Given the description of an element on the screen output the (x, y) to click on. 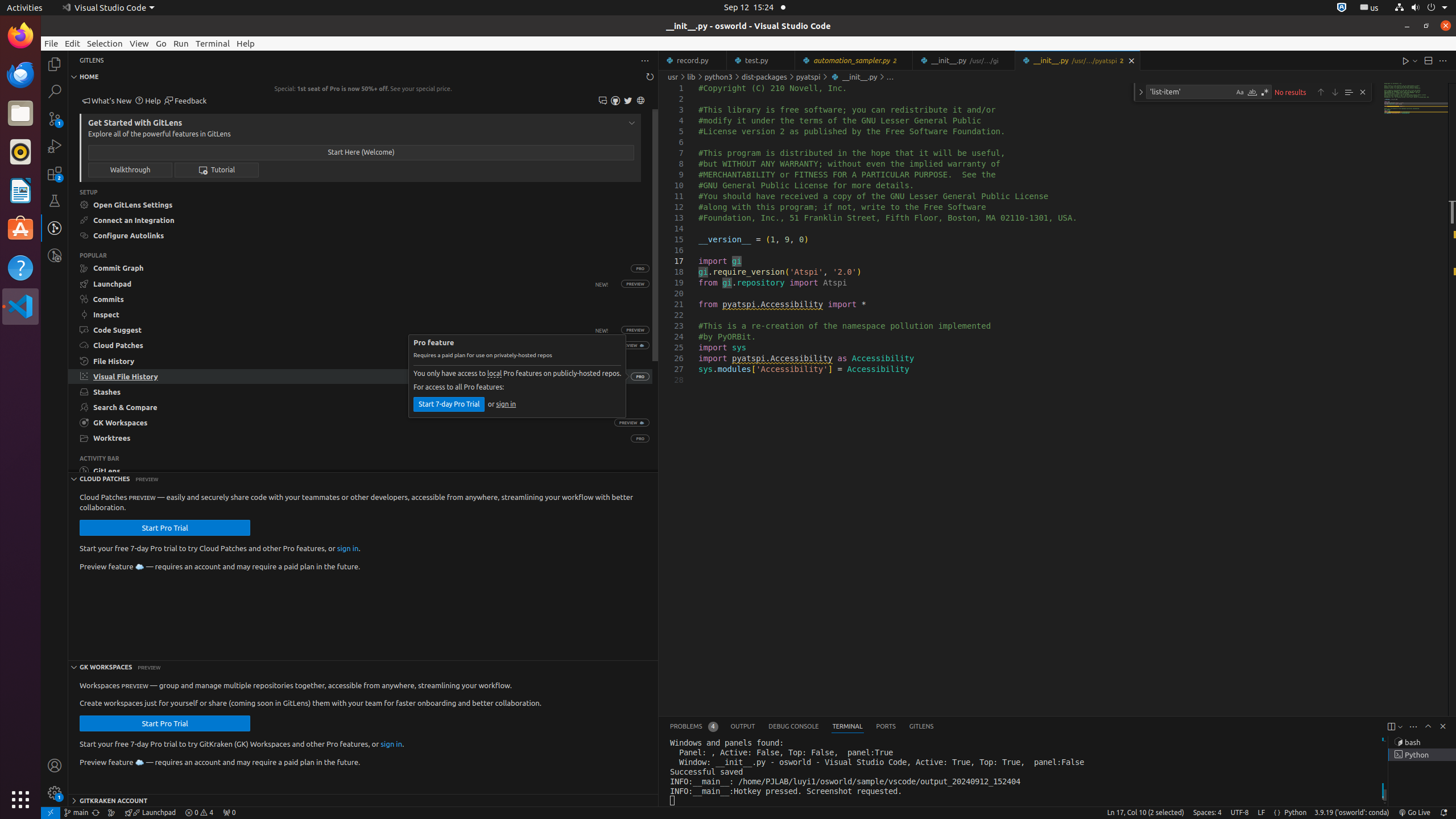
Find in Selection (Alt+L) Element type: check-box (1348, 91)
Run Element type: push-button (181, 43)
Show GitKraken Workspaces view Element type: link (340, 422)
rocket gitlens-unplug Launchpad, GitLens Launchpad ᴘʀᴇᴠɪᴇᴡ    &mdash;    [$(question)](command:gitlens.launchpad.indicator.action?%22info%22 "What is this?") [$(gear)](command:workbench.action.openSettings?%22gitlens.launchpad%22 "Settings")  |  [$(circle-slash) Hide](command:gitlens.launchpad.indicator.action?%22hide%22 "Hide") --- [Launchpad](command:gitlens.launchpad.indicator.action?%info%22 "Learn about Launchpad") organizes your pull requests into actionable groups to help you focus and keep your team unblocked. It's always accessible using the `GitLens: Open Launchpad` command from the Command Palette. --- [Connect an integration](command:gitlens.showLaunchpad?%7B%22source%22%3A%22launchpad-indicator%22%7D "Connect an integration") to get started. Element type: push-button (150, 812)
Show Commits view Element type: link (359, 298)
